Given the description of an element on the screen output the (x, y) to click on. 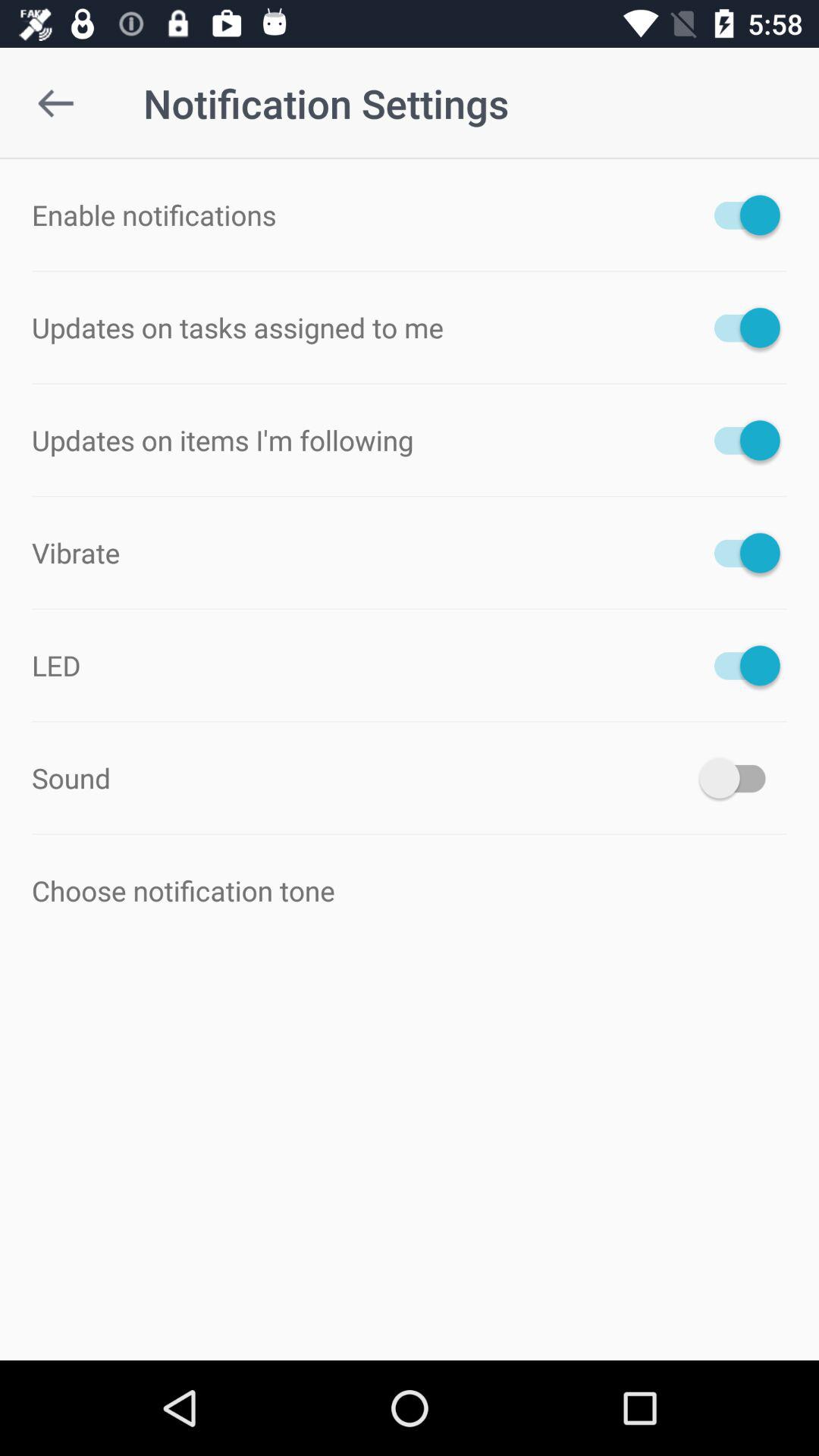
the button is used to notification is on (739, 214)
